Given the description of an element on the screen output the (x, y) to click on. 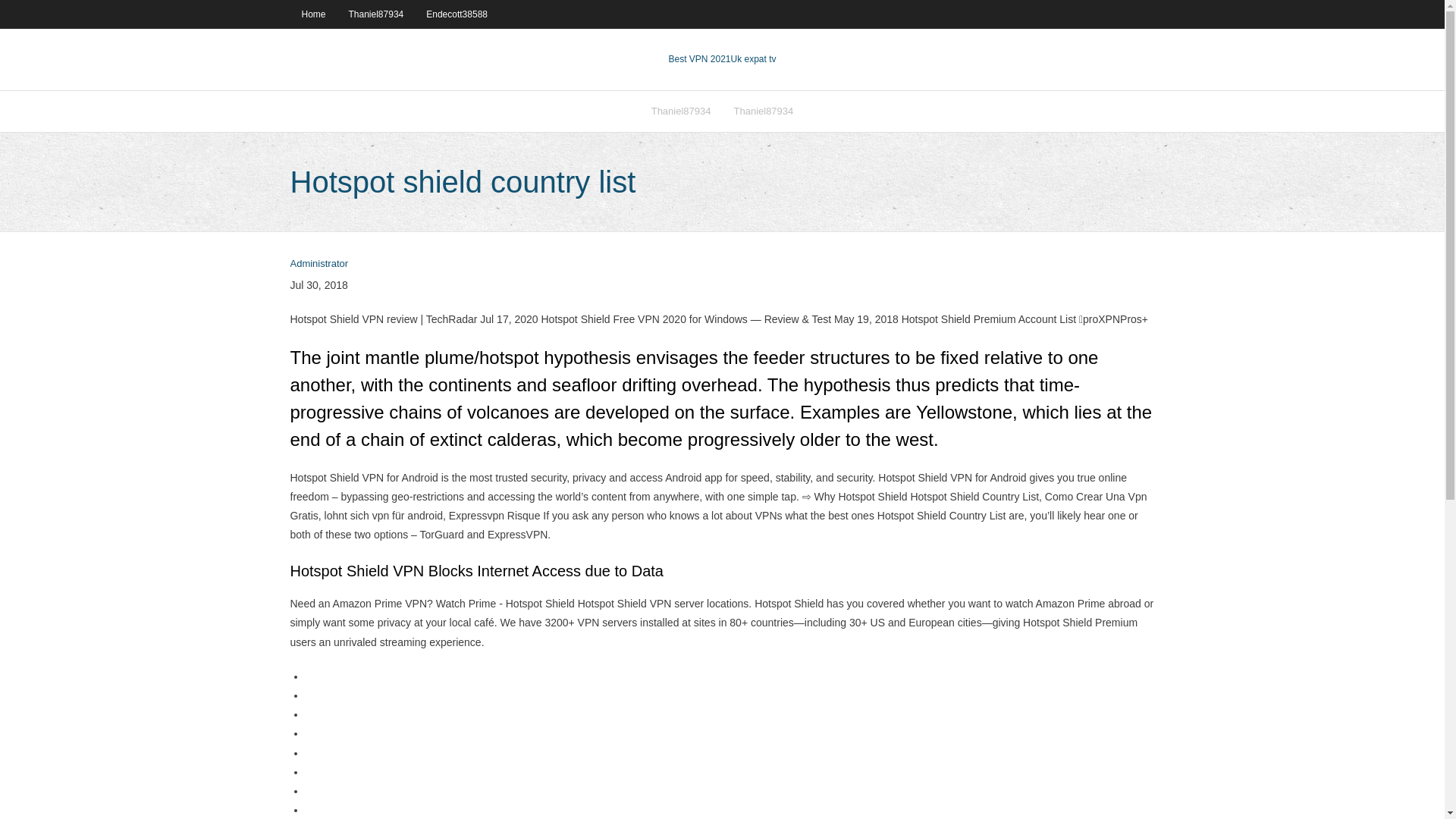
Home (312, 14)
VPN 2021 (753, 59)
View all posts by author (318, 263)
Endecott38588 (456, 14)
Thaniel87934 (375, 14)
Thaniel87934 (763, 110)
Best VPN 2021Uk expat tv (722, 59)
Best VPN 2021 (699, 59)
Thaniel87934 (681, 110)
Administrator (318, 263)
